Given the description of an element on the screen output the (x, y) to click on. 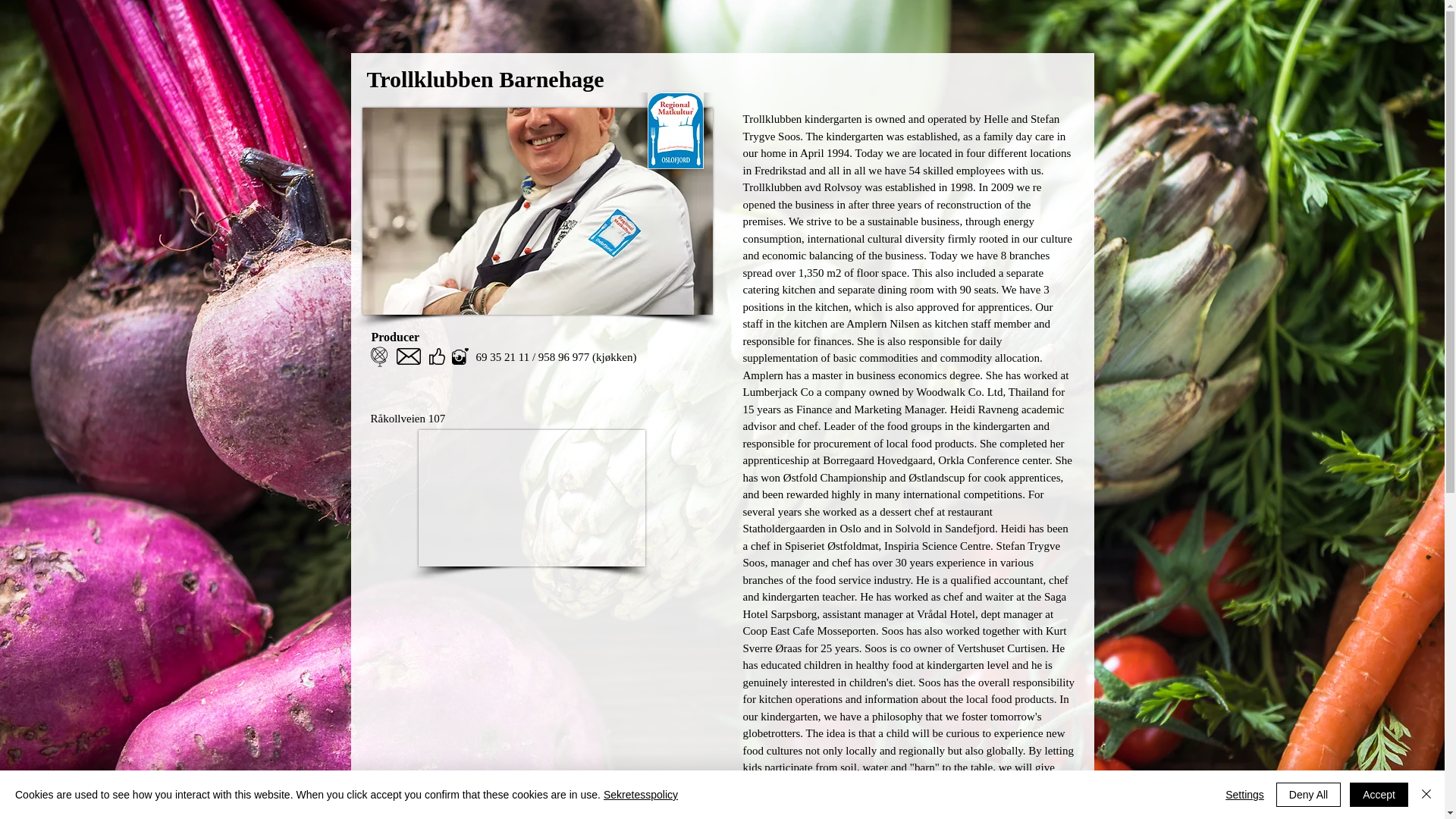
Accept (1378, 794)
Deny All (1308, 794)
3775 (532, 497)
Sekretesspolicy (641, 794)
